Given the description of an element on the screen output the (x, y) to click on. 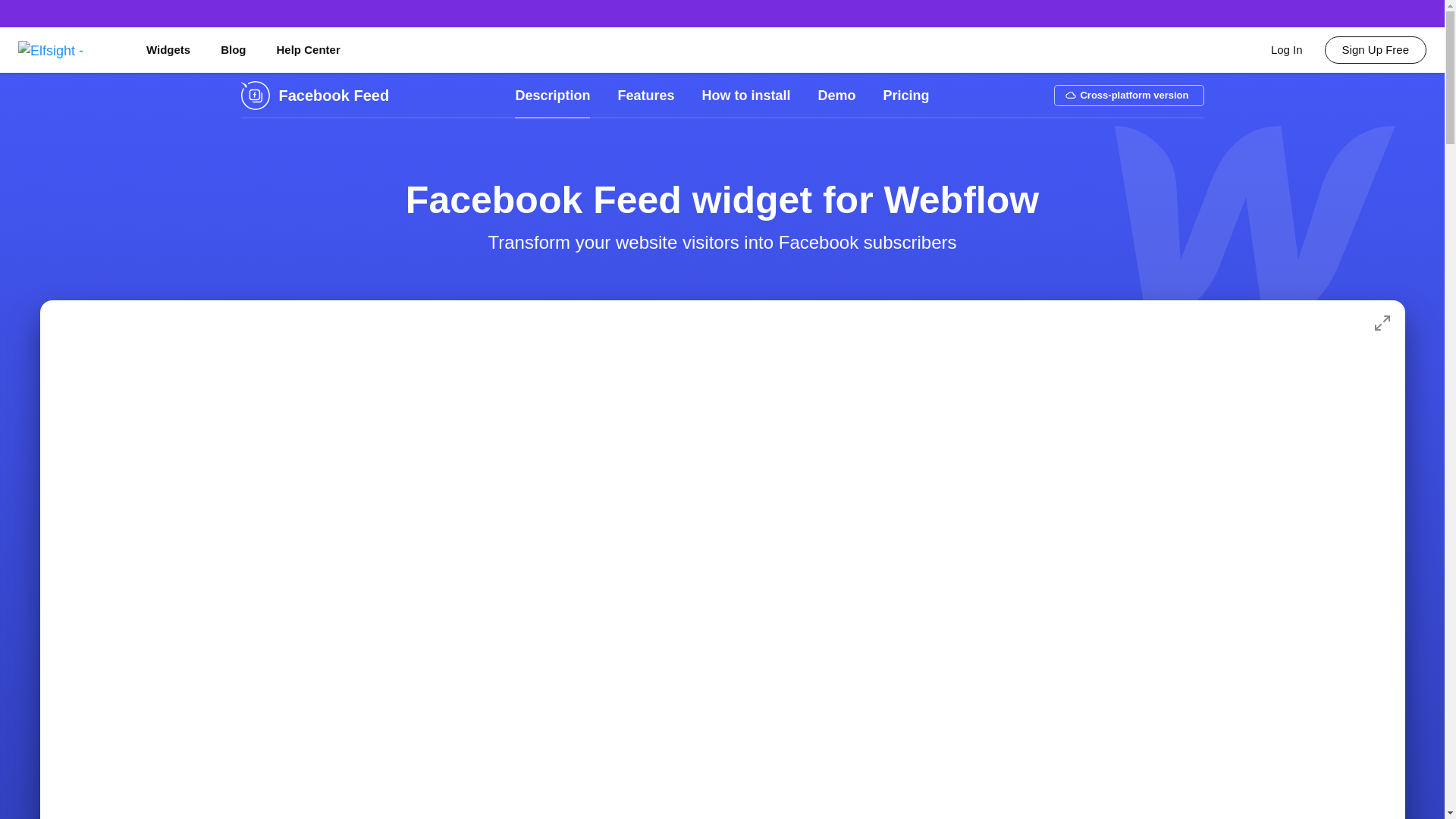
Full Screen (1381, 322)
Widgets (168, 49)
Elfsight - Premium Plugins For Websites (66, 49)
